Given the description of an element on the screen output the (x, y) to click on. 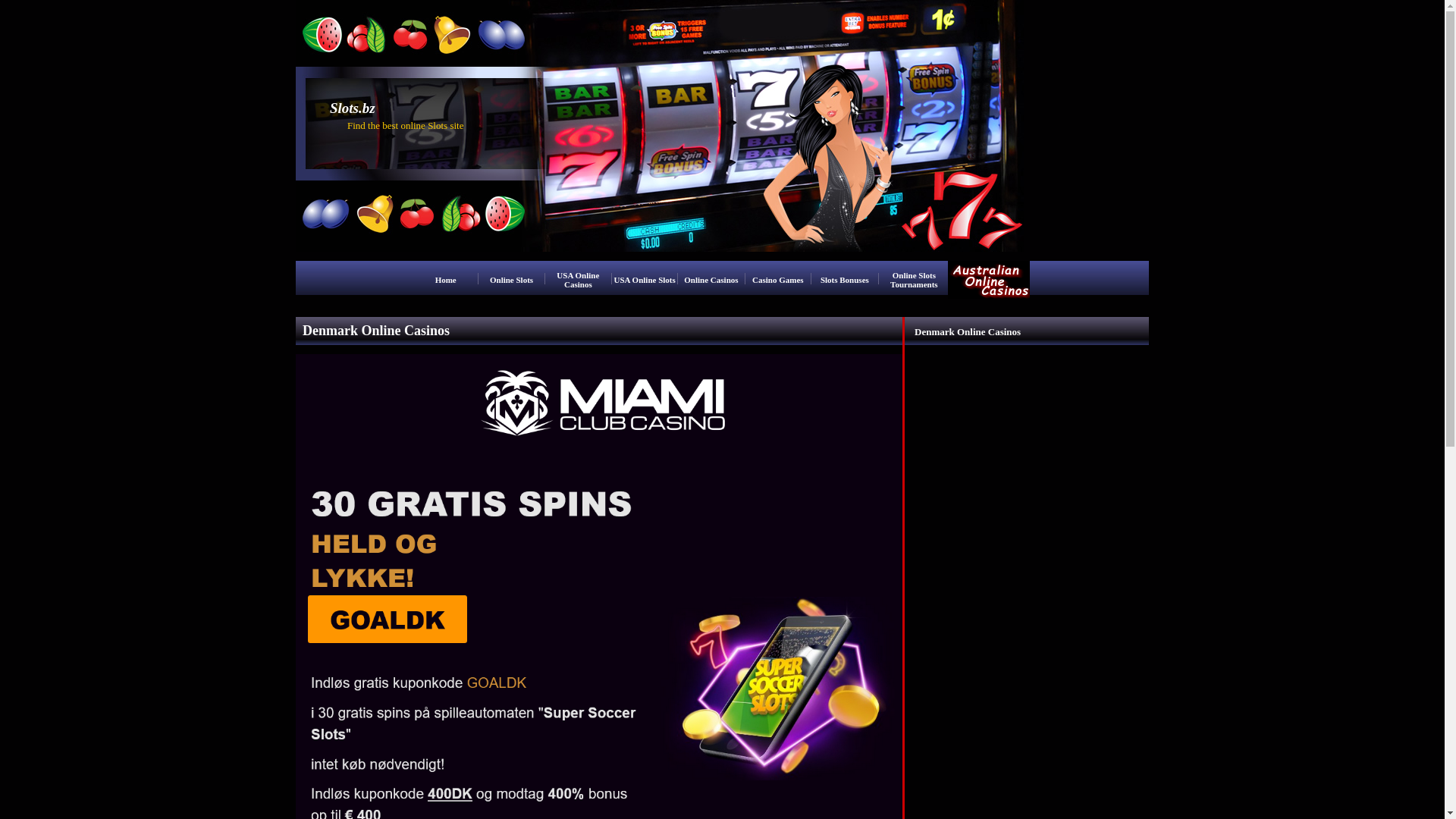
Slots.bz Element type: text (352, 109)
USA Online Casinos Element type: text (577, 279)
Online Casinos Element type: text (710, 279)
Home Element type: text (445, 279)
Online Slots Tournaments Element type: text (914, 279)
USA Online Slots Element type: text (643, 279)
Slots Bonuses Element type: text (844, 279)
Casino Games Element type: text (777, 279)
Online Slots Element type: text (511, 279)
